Given the description of an element on the screen output the (x, y) to click on. 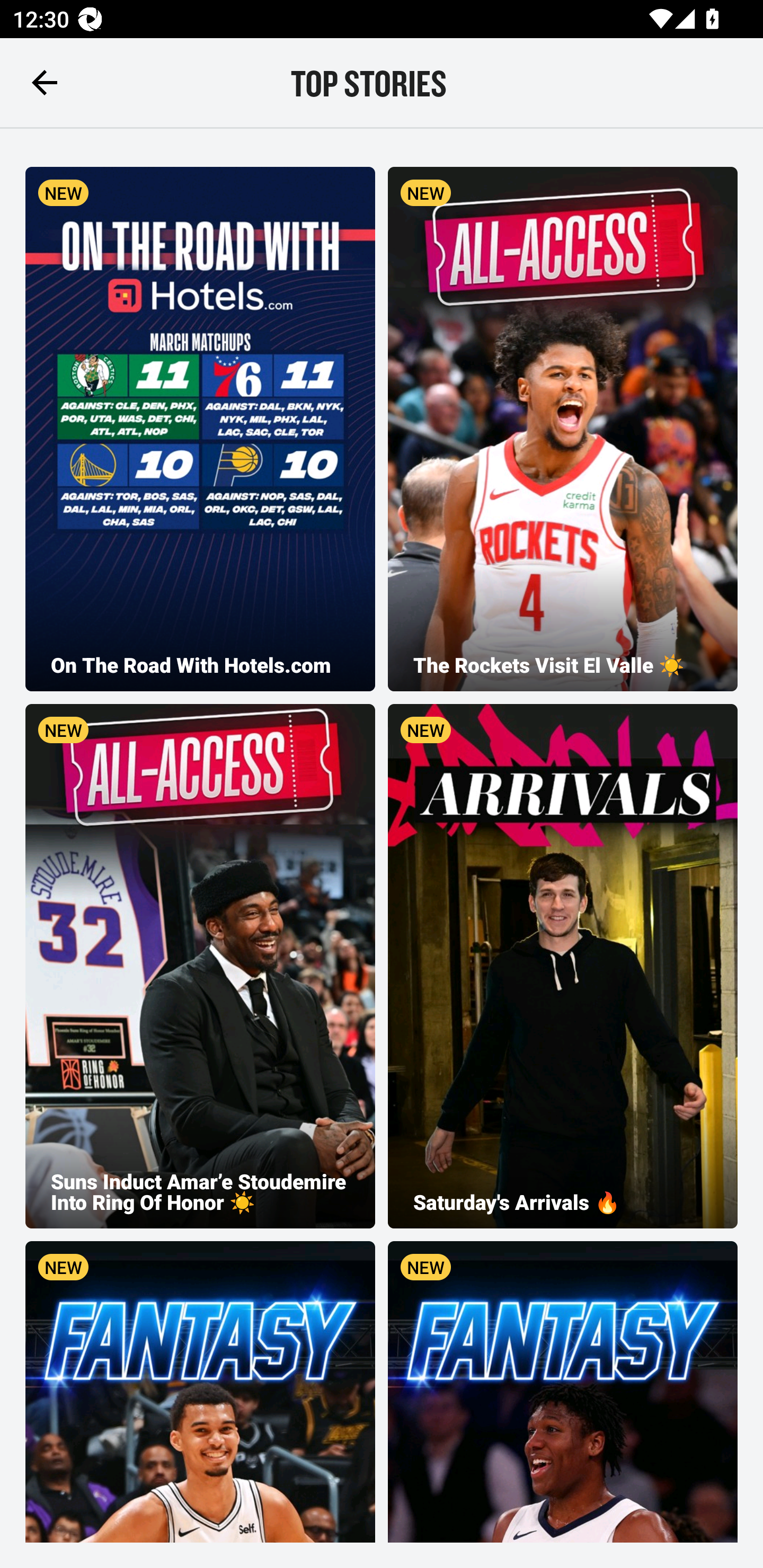
Navigate up (44, 82)
NEW On The Road With Hotels.com (200, 428)
NEW The Rockets Visit El Valle ☀ (562, 428)
NEW Saturday's Arrivals 🔥 (562, 965)
NEW (200, 1391)
NEW (562, 1391)
